Given the description of an element on the screen output the (x, y) to click on. 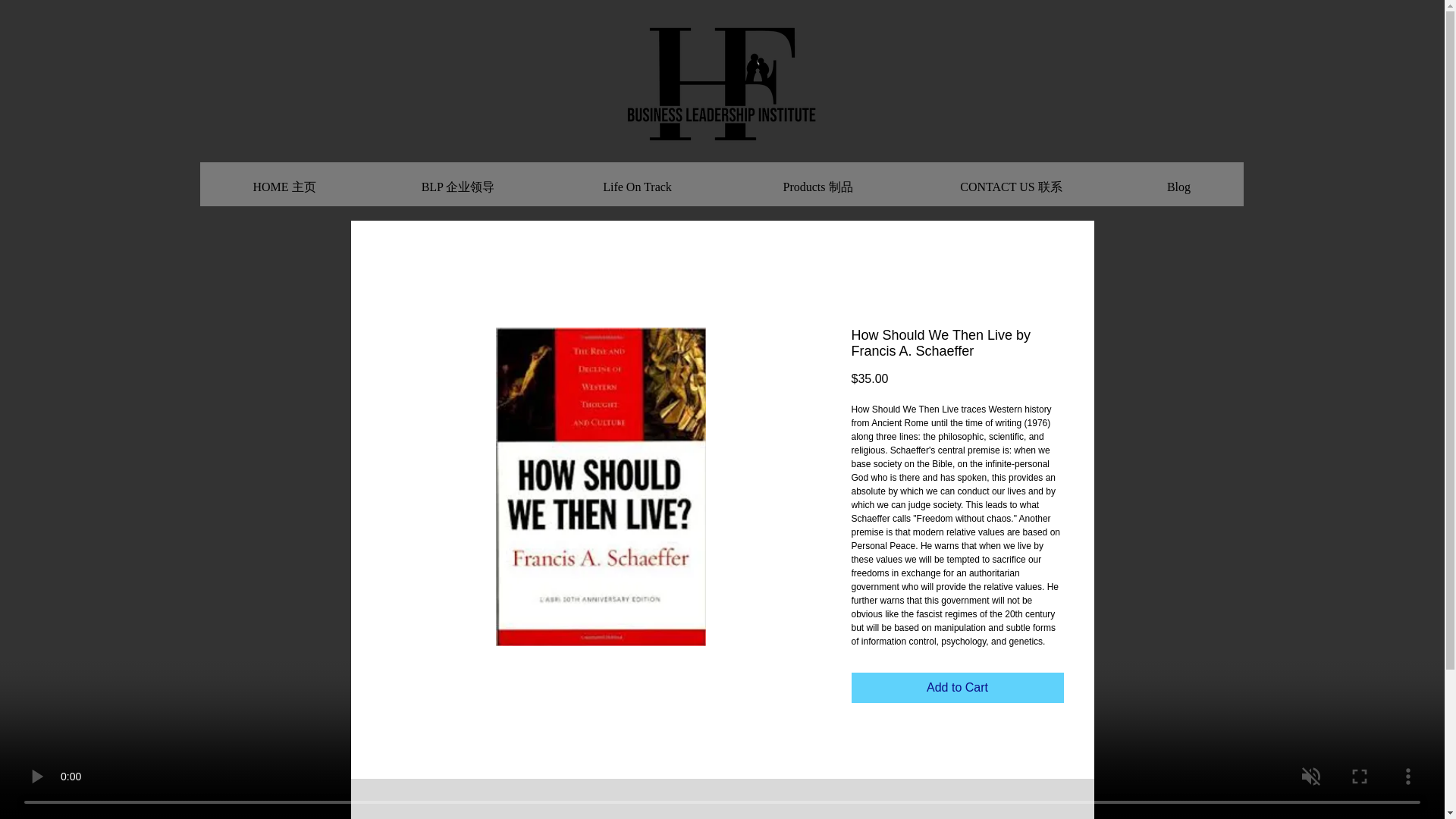
Blog (1179, 180)
Add to Cart (956, 687)
Life On Track (637, 180)
